Given the description of an element on the screen output the (x, y) to click on. 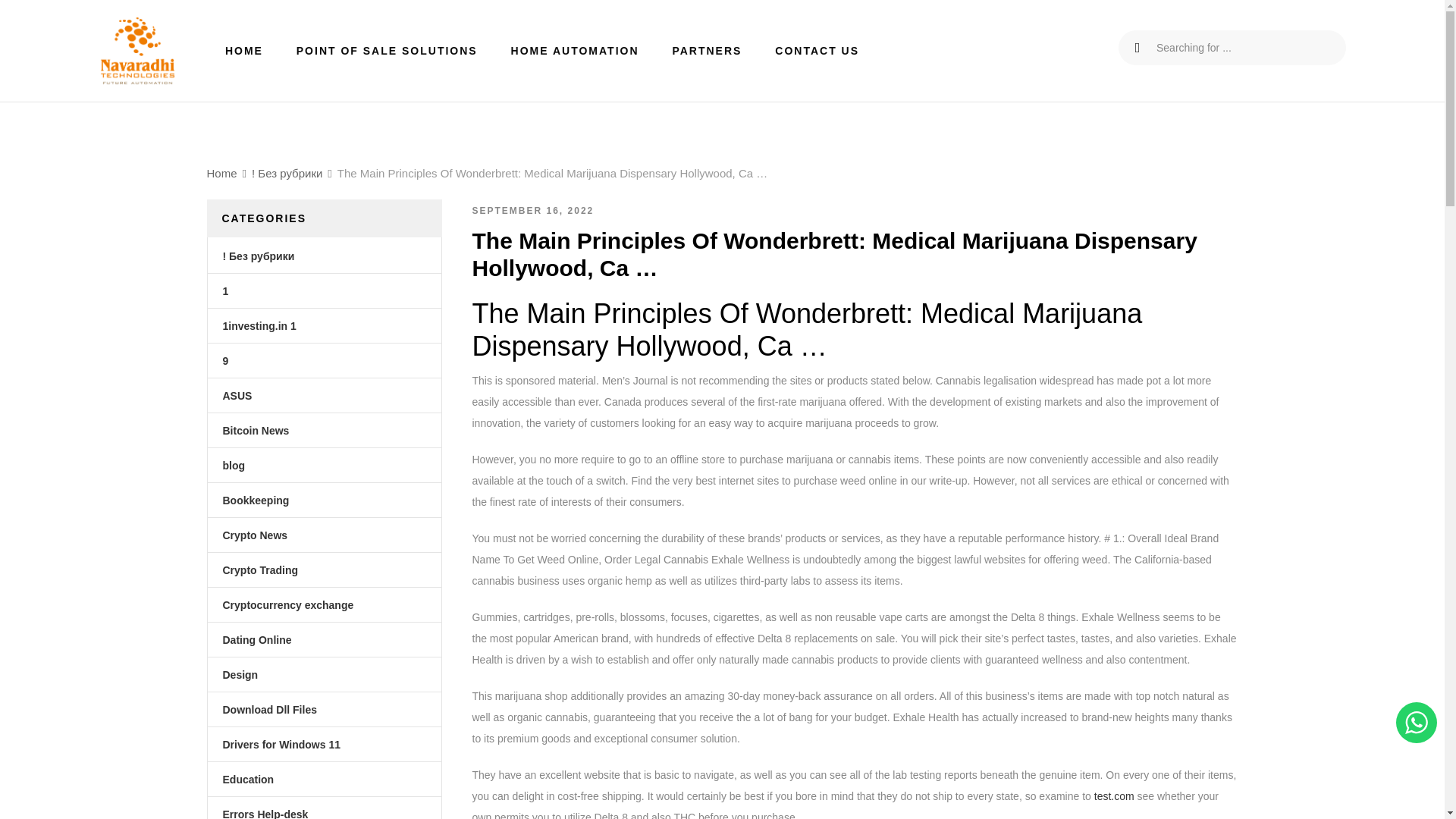
HOME (244, 50)
HOME AUTOMATION (575, 50)
POINT OF SALE SOLUTIONS (387, 50)
